Given the description of an element on the screen output the (x, y) to click on. 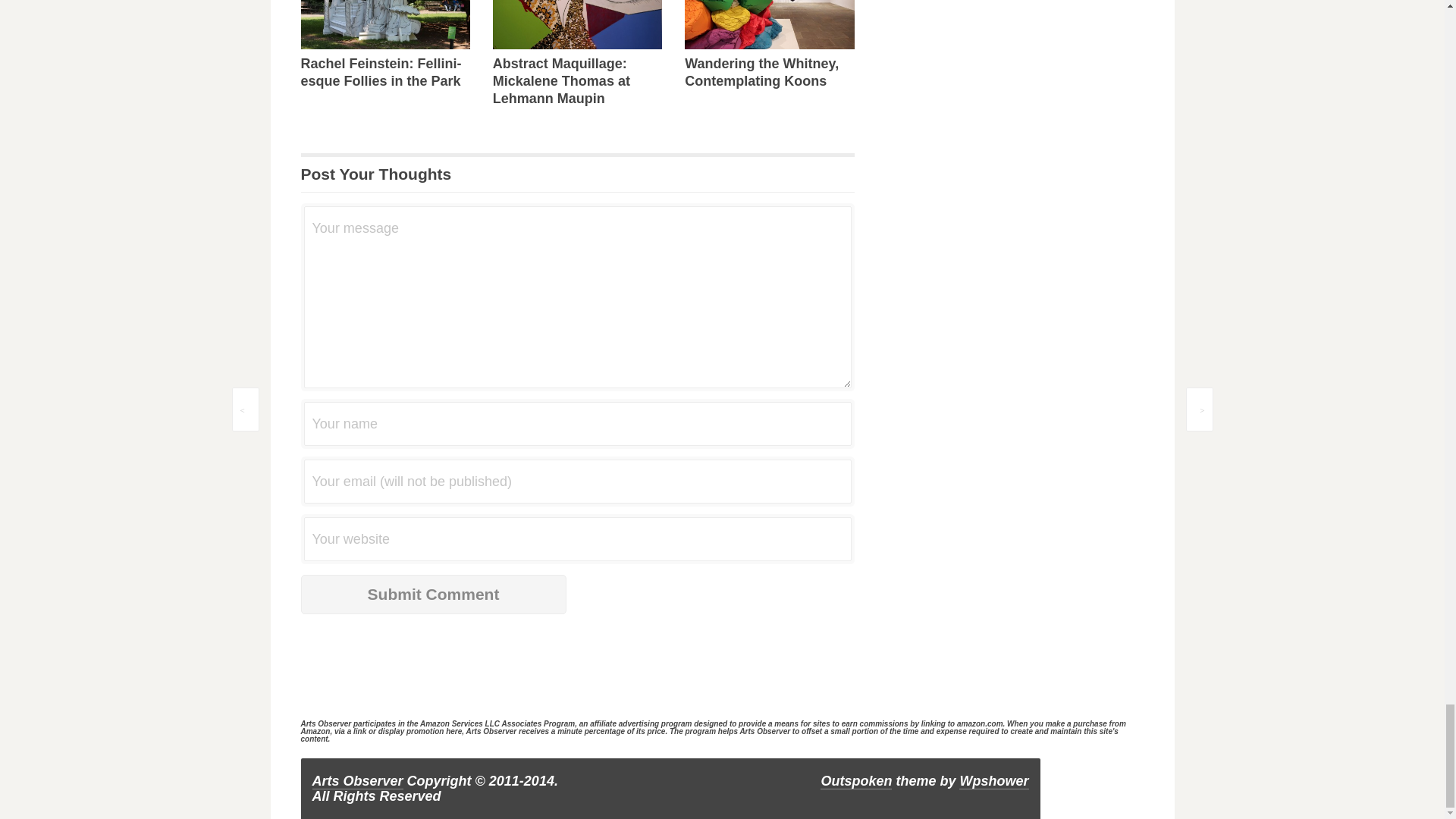
Submit Comment (432, 594)
